Given the description of an element on the screen output the (x, y) to click on. 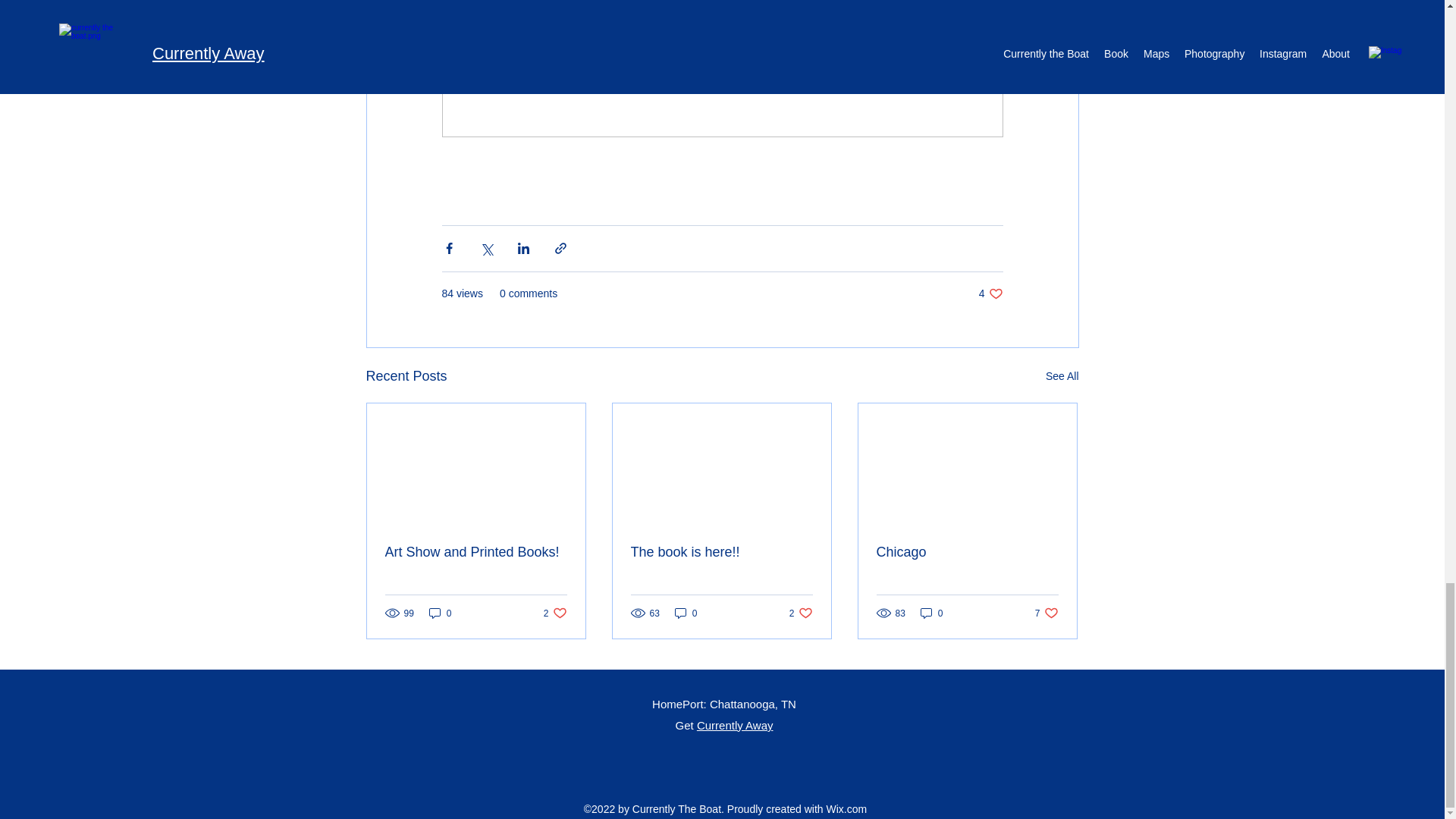
See All (1046, 612)
0 (1061, 376)
0 (555, 612)
Art Show and Printed Books! (990, 293)
The book is here!! (931, 612)
Chicago (800, 612)
